Given the description of an element on the screen output the (x, y) to click on. 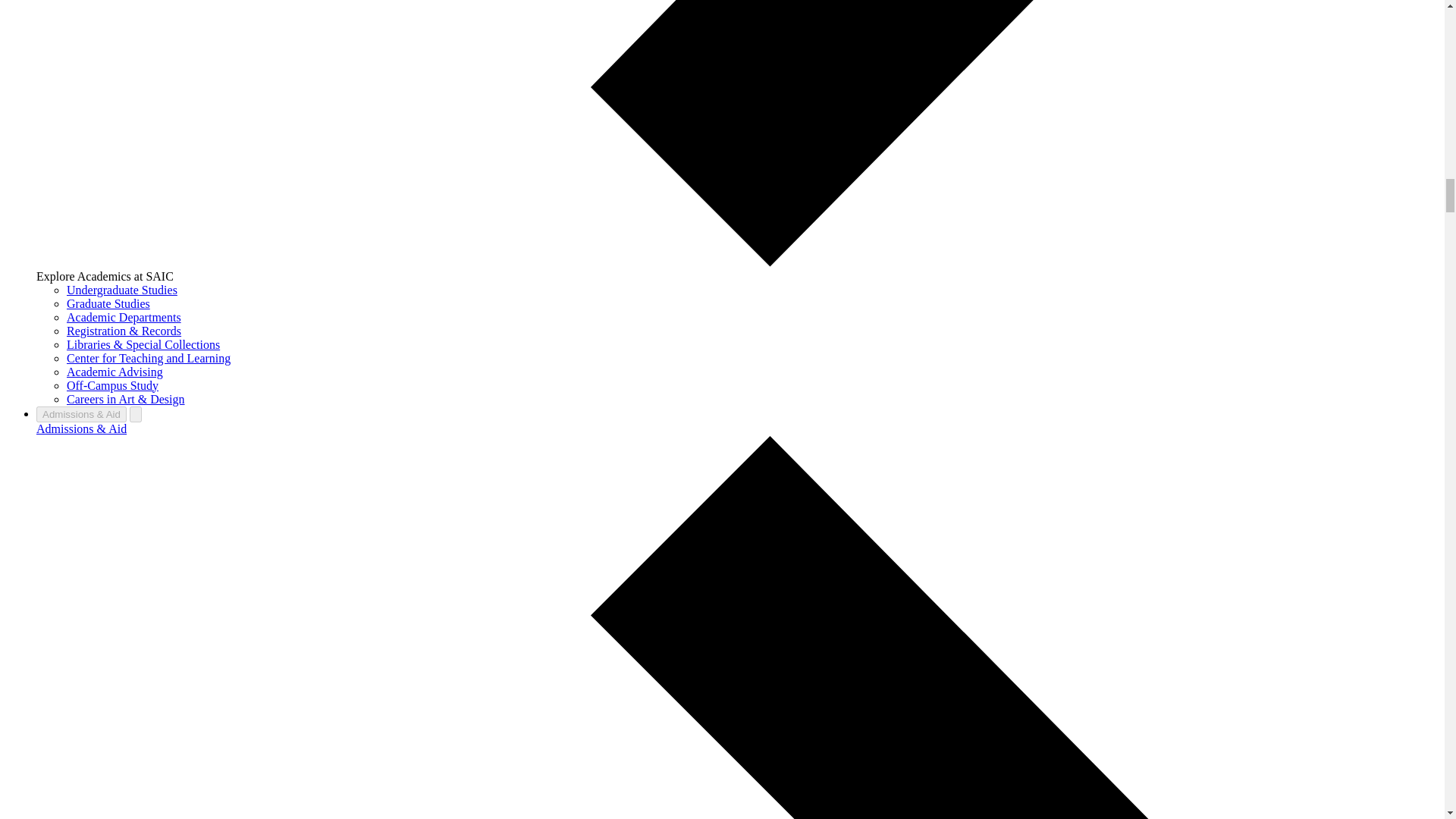
Graduate Studies (107, 303)
Academic Departments (123, 317)
Center for Teaching and Learning (148, 358)
Academic Advising (114, 371)
Off-Campus Study (112, 385)
Undergraduate Studies (121, 289)
